Given the description of an element on the screen output the (x, y) to click on. 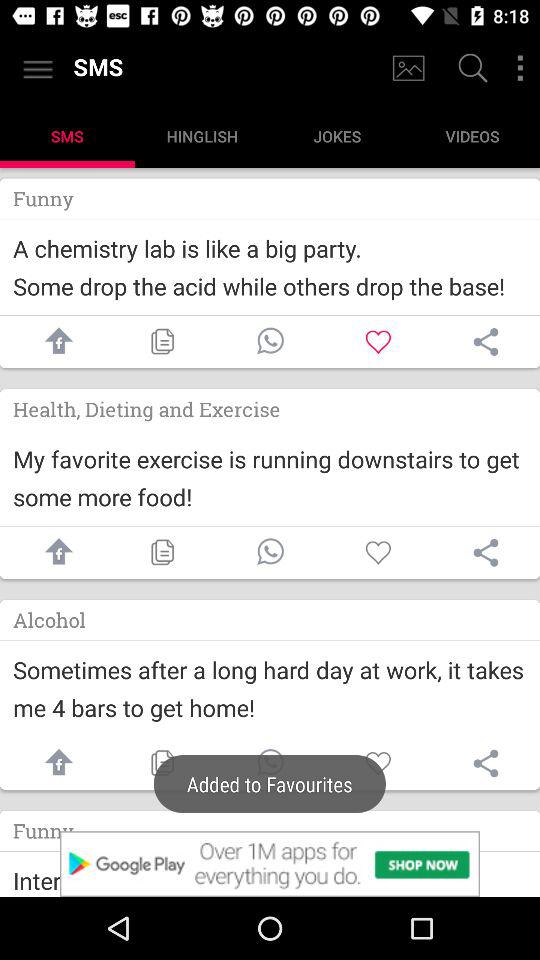
like the message (378, 552)
